Given the description of an element on the screen output the (x, y) to click on. 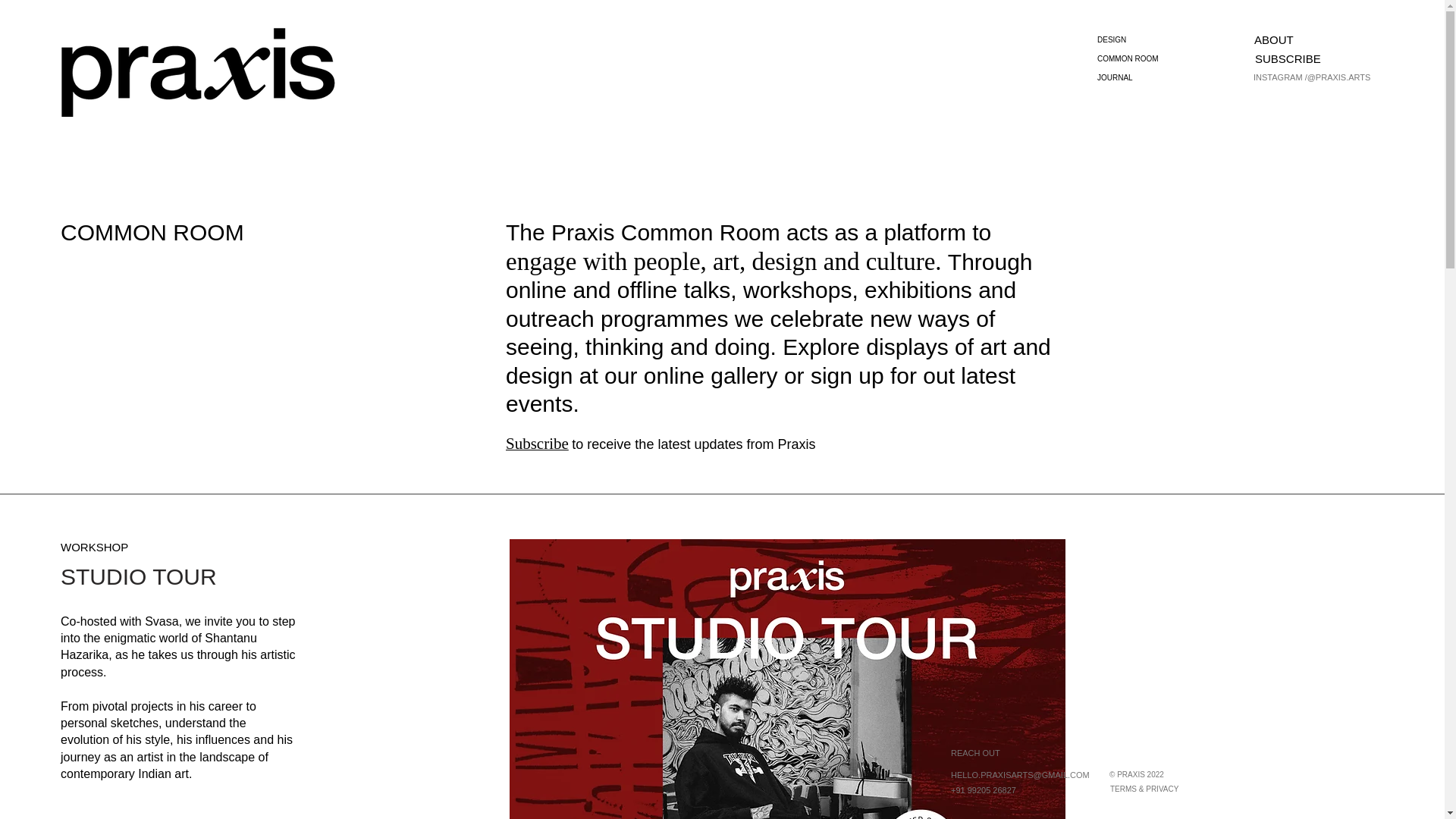
to receive the latest updates from Praxis (692, 444)
STUDIO TOUR (158, 576)
SUBSCRIBE (1308, 58)
JOURNAL (1158, 76)
DESIGN (1158, 39)
praxis logo black.png (198, 71)
ABOUT (1307, 39)
Subscribe (537, 444)
COMMON ROOM (1158, 58)
